Given the description of an element on the screen output the (x, y) to click on. 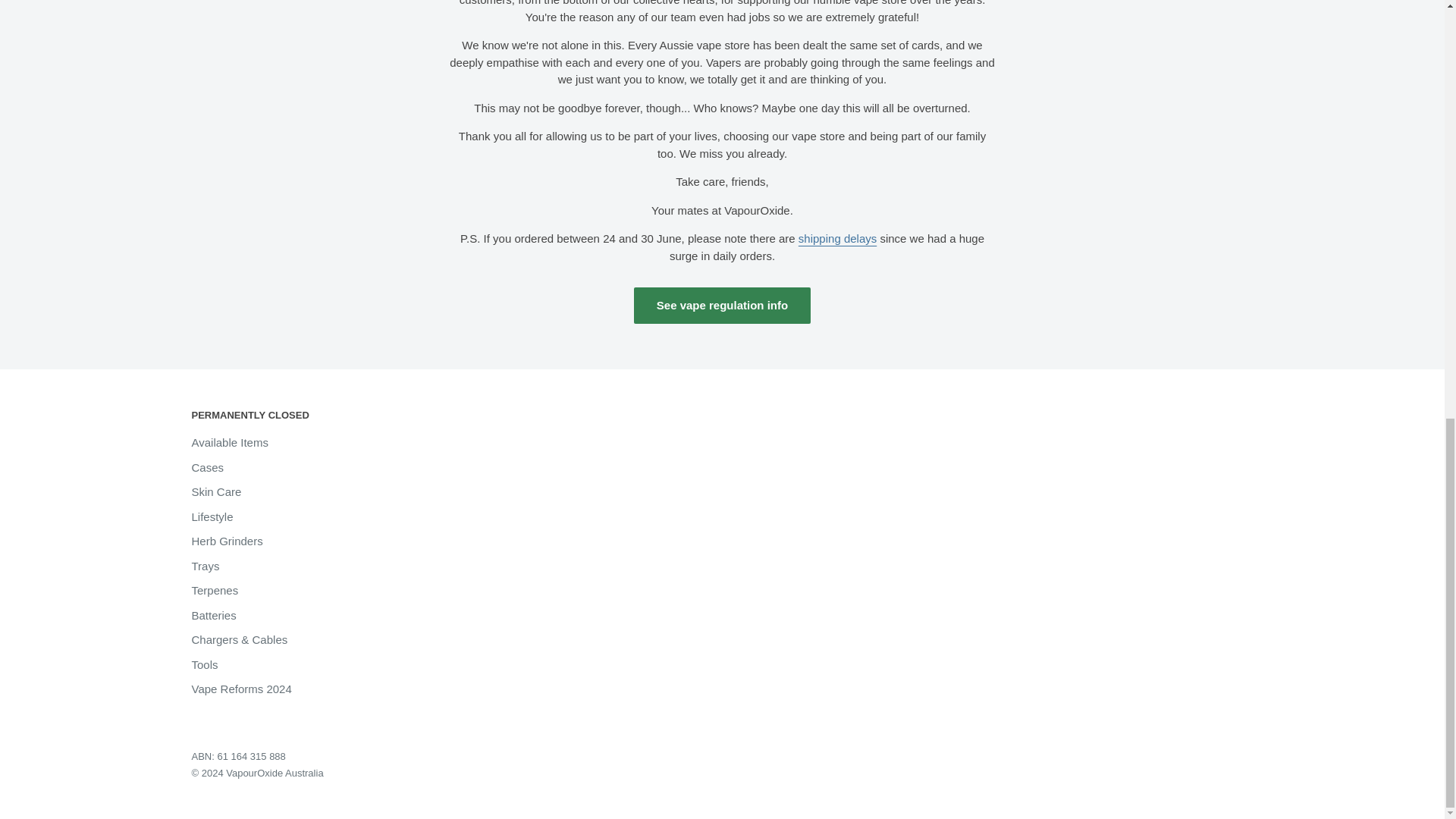
See vape regulation info (721, 305)
shipping delays (836, 237)
PERMANENTLY CLOSED (277, 415)
